Given the description of an element on the screen output the (x, y) to click on. 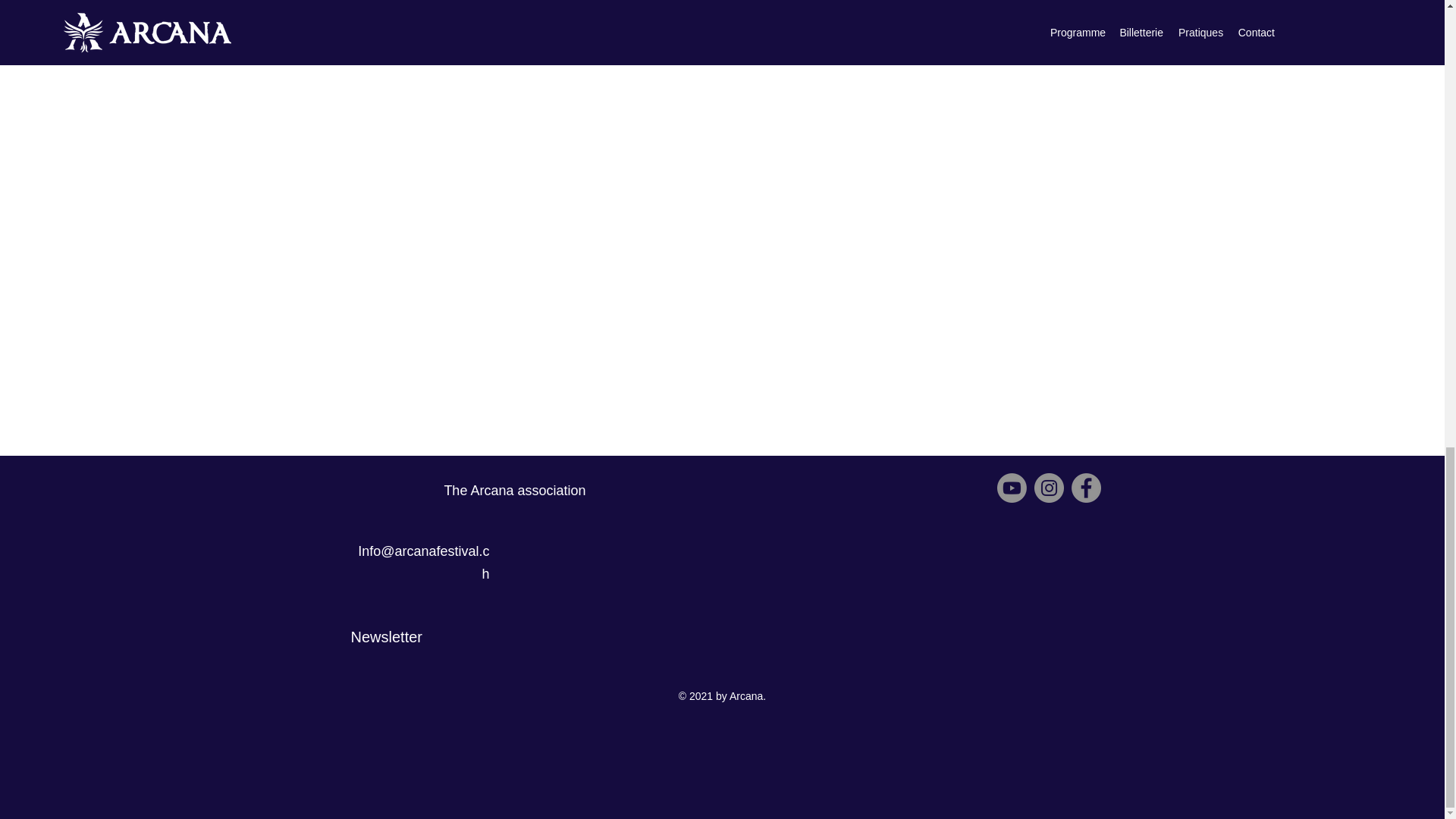
Newsletter (386, 636)
